Given the description of an element on the screen output the (x, y) to click on. 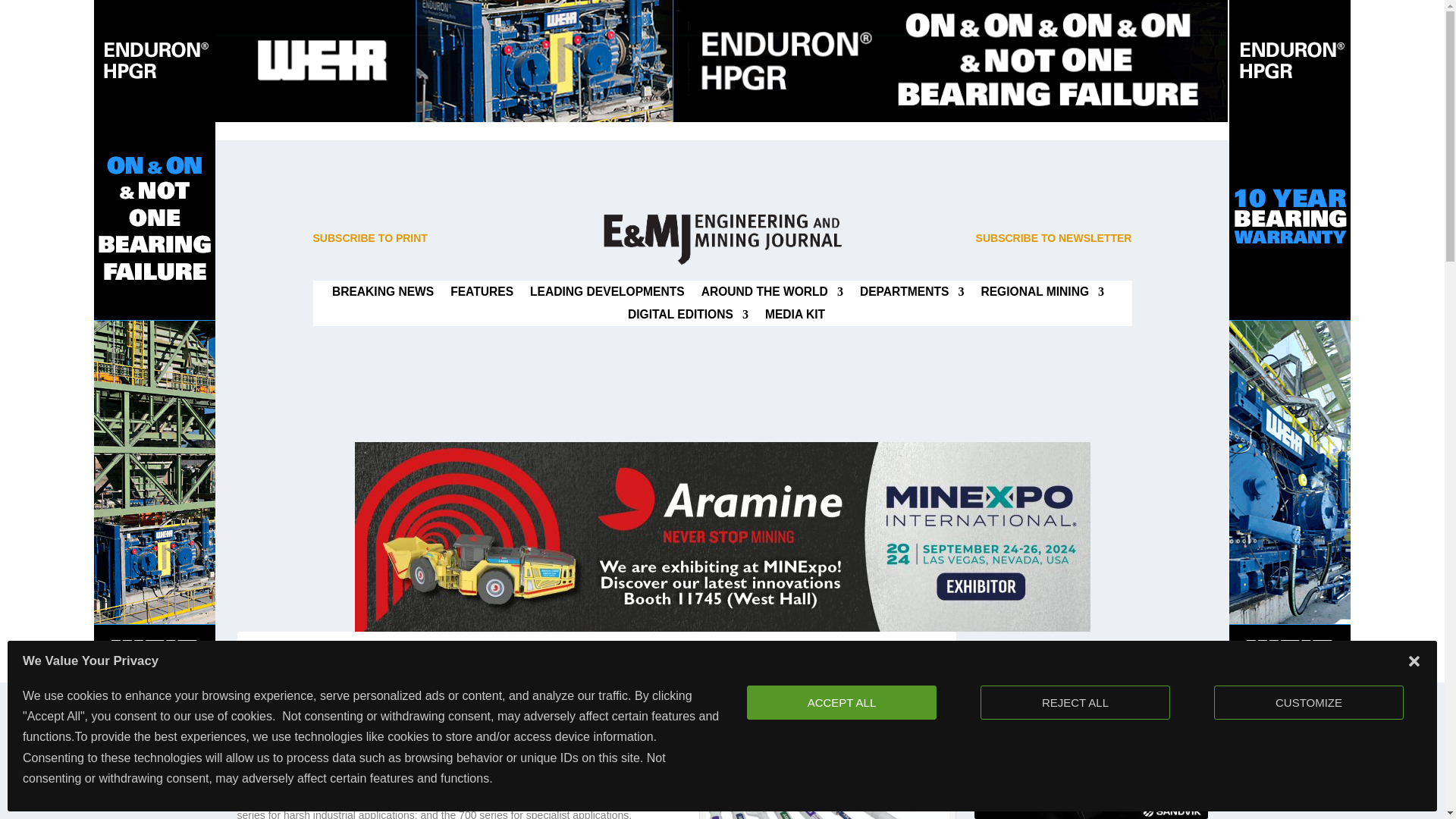
LEADING DEVELOPMENTS (606, 294)
REJECT ALL (1076, 702)
SUBSCRIBE TO PRINT (369, 237)
FEATURES (481, 294)
Search (1183, 657)
ACCEPT ALL (845, 702)
CUSTOMIZE (1308, 702)
BREAKING NEWS (382, 294)
AROUND THE WORLD (772, 294)
SUBSCRIBE TO NEWSLETTER (1053, 237)
Search (1183, 657)
